Given the description of an element on the screen output the (x, y) to click on. 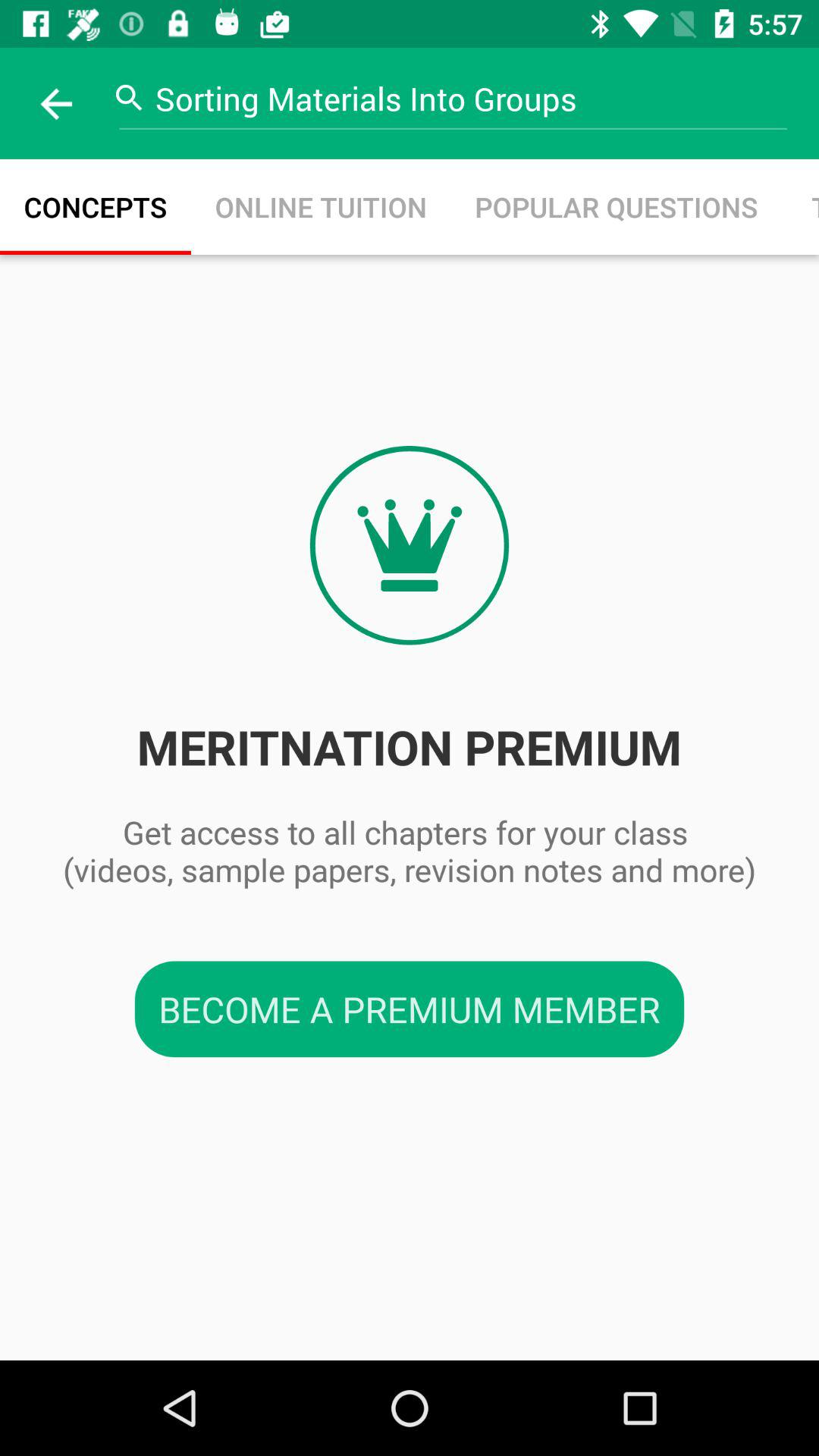
choose the sorting materials into icon (465, 98)
